Given the description of an element on the screen output the (x, y) to click on. 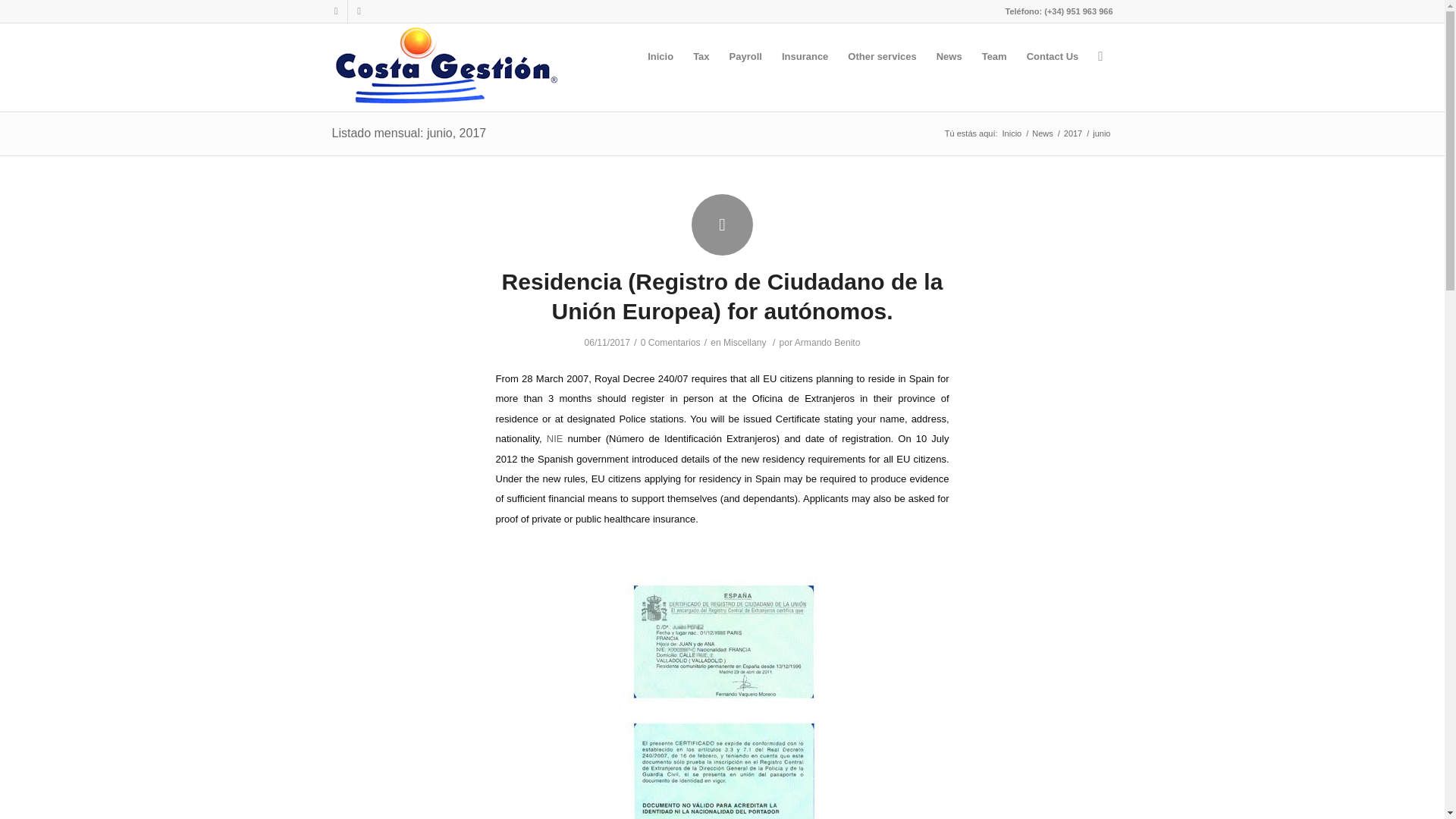
Facebook (358, 11)
Inicio (1012, 133)
Armando Benito (827, 342)
Contact Us (1052, 56)
Entradas de Armando Benito (827, 342)
2017 (1072, 133)
0 Comentarios (670, 342)
Twitter (335, 11)
News (1042, 133)
2017 (1072, 133)
